Given the description of an element on the screen output the (x, y) to click on. 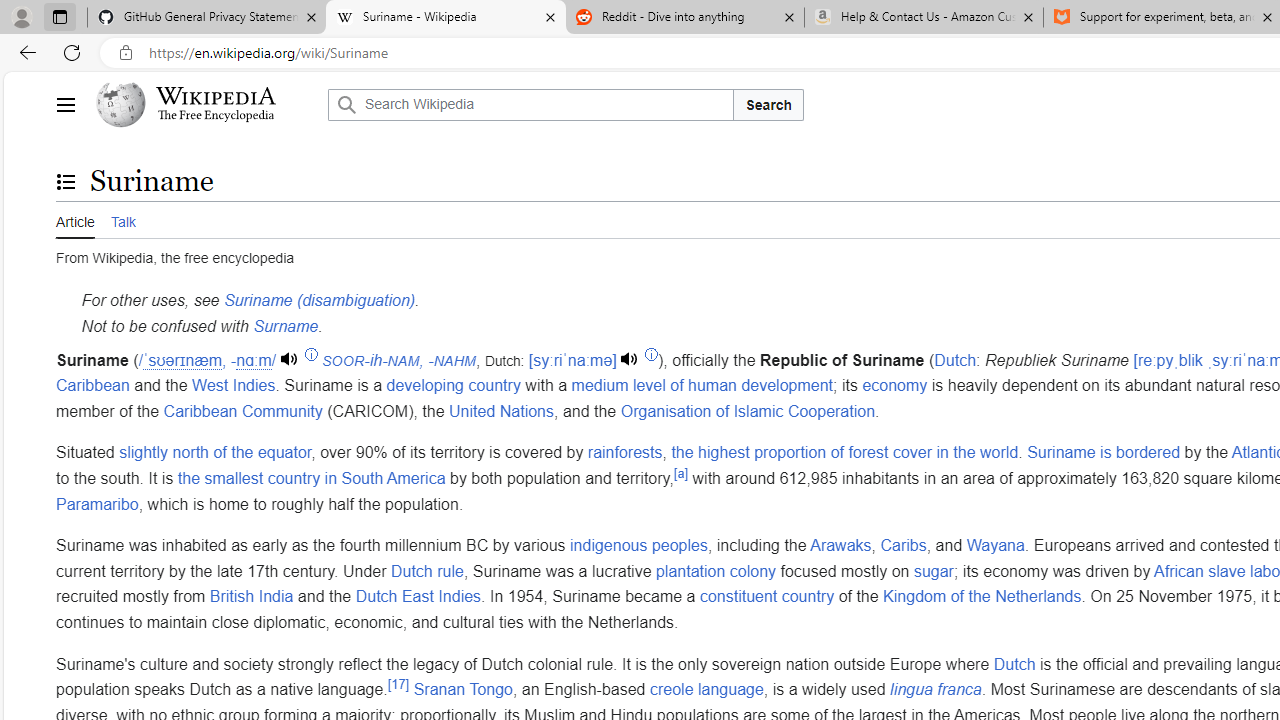
Suriname (disambiguation) (319, 301)
slightly north of the equator (215, 453)
Help & Contact Us - Amazon Customer Service - Sleeping (924, 17)
Dutch (1014, 664)
[a] (680, 472)
West Indies (234, 386)
Suriname is bordered (1103, 453)
Talk (122, 219)
GitHub General Privacy Statement - GitHub Docs (207, 17)
[17] (397, 683)
Sranan Tongo (463, 690)
Caribbean Community (242, 410)
plantation colony (715, 571)
Wikipedia The Free Encyclopedia (206, 104)
